Given the description of an element on the screen output the (x, y) to click on. 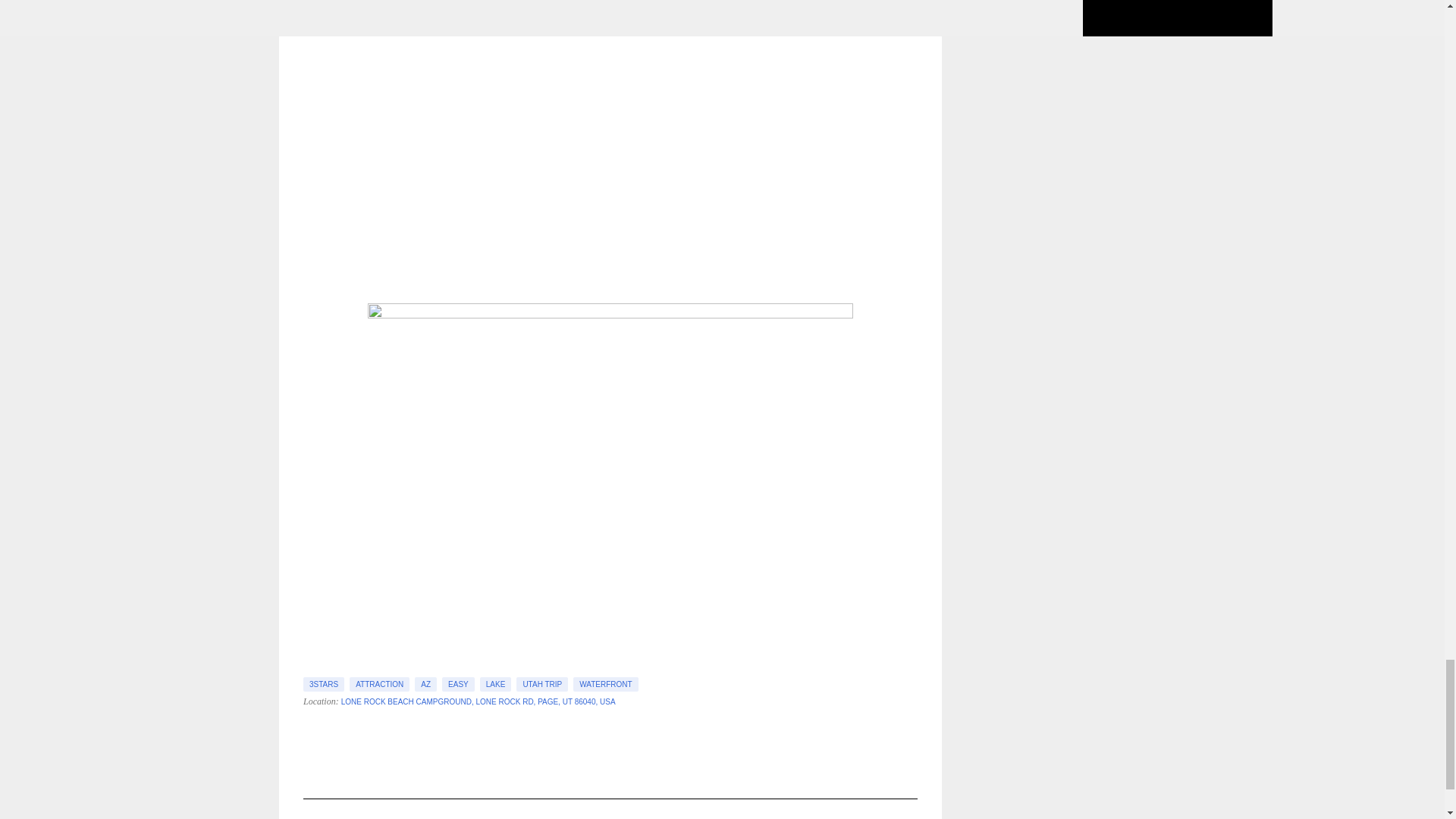
WATERFRONT (605, 684)
UTAH TRIP (541, 684)
LAKE (496, 684)
AZ (425, 684)
ATTRACTION (379, 684)
3STARS (322, 684)
EASY (458, 684)
